Given the description of an element on the screen output the (x, y) to click on. 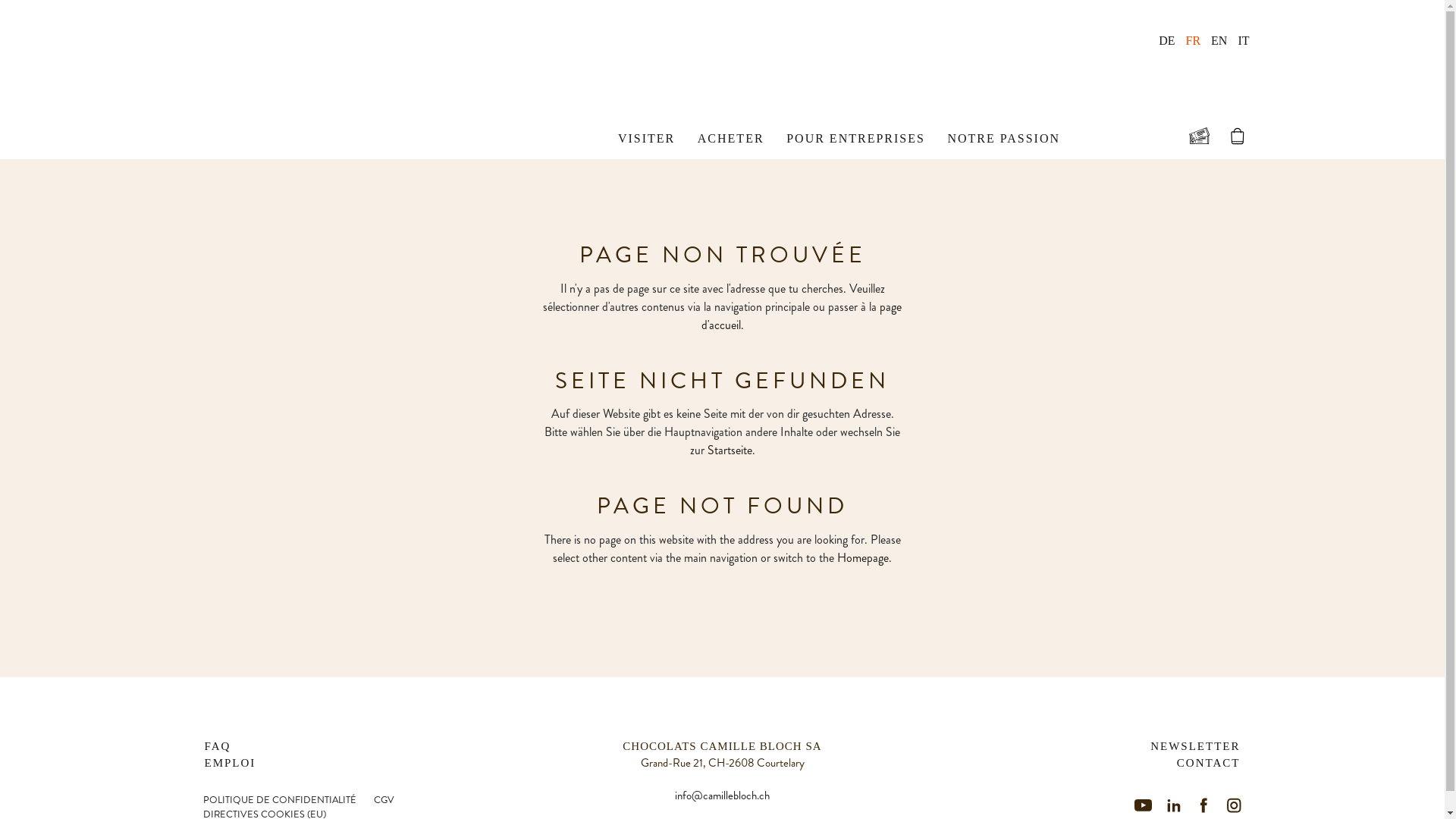
NEWSLETTER Element type: text (1194, 746)
page d'accueil Element type: text (800, 315)
SoNuts Element type: hover (588, 135)
POUR ENTREPRISES Element type: text (855, 137)
info@camillebloch.ch Element type: text (721, 795)
EN Element type: text (1218, 40)
CGV Element type: text (383, 799)
Homepage Element type: text (862, 557)
NOTRE PASSION Element type: text (1003, 137)
Startseite Element type: text (728, 449)
CONTACT Element type: text (1208, 762)
EMPLOI Element type: text (230, 762)
FAQ Element type: text (217, 746)
Ragusa Element type: hover (392, 136)
VISITER Element type: text (646, 137)
FR Element type: text (1192, 40)
Torino Element type: hover (478, 136)
IT Element type: text (1242, 40)
ACHETER Element type: text (730, 137)
DE Element type: text (1166, 40)
